Given the description of an element on the screen output the (x, y) to click on. 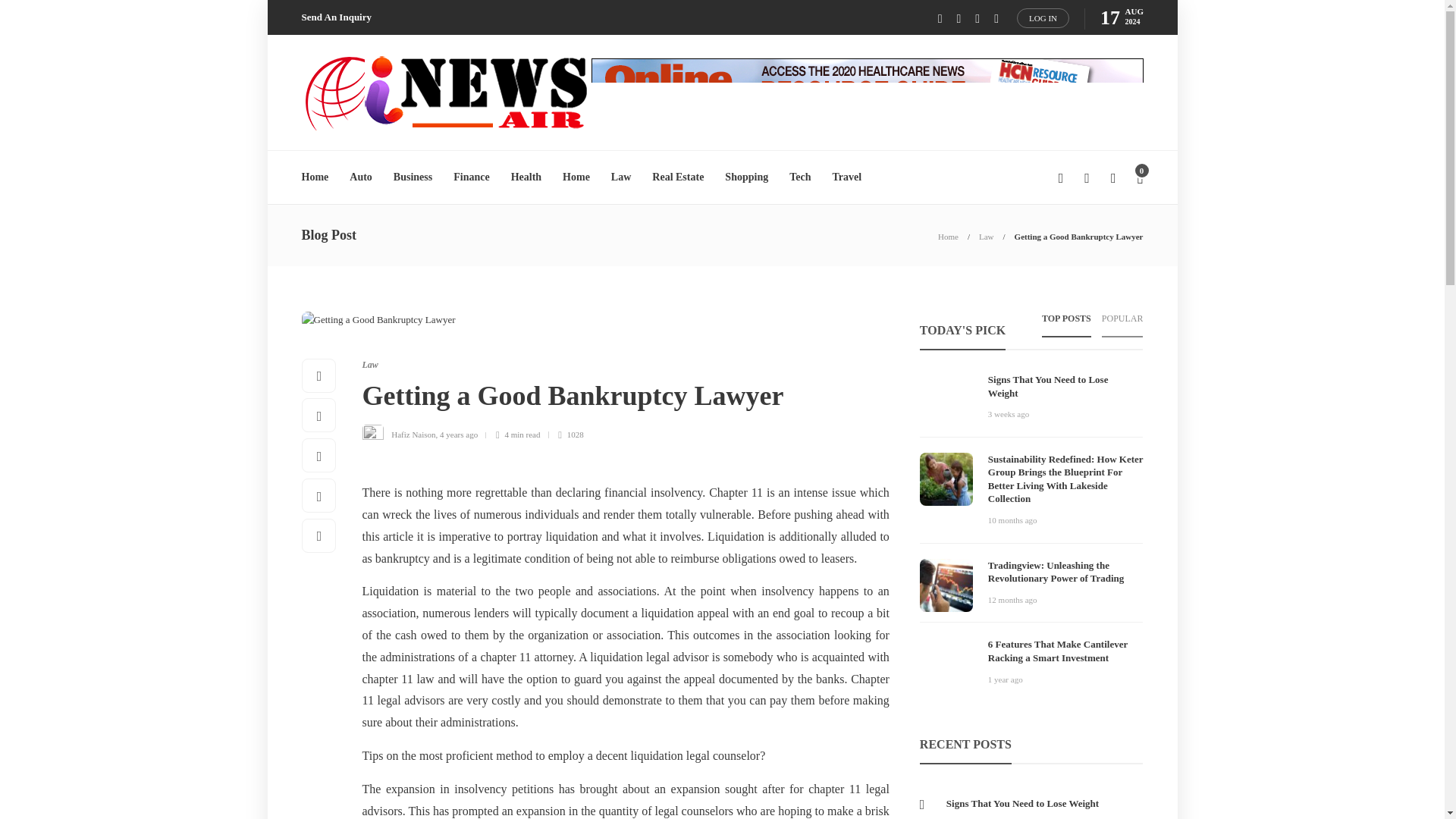
LOG IN (1042, 17)
Home (947, 235)
Real Estate (677, 176)
Getting a Good Bankruptcy Lawyer (1078, 235)
Send An Inquiry (336, 17)
